Given the description of an element on the screen output the (x, y) to click on. 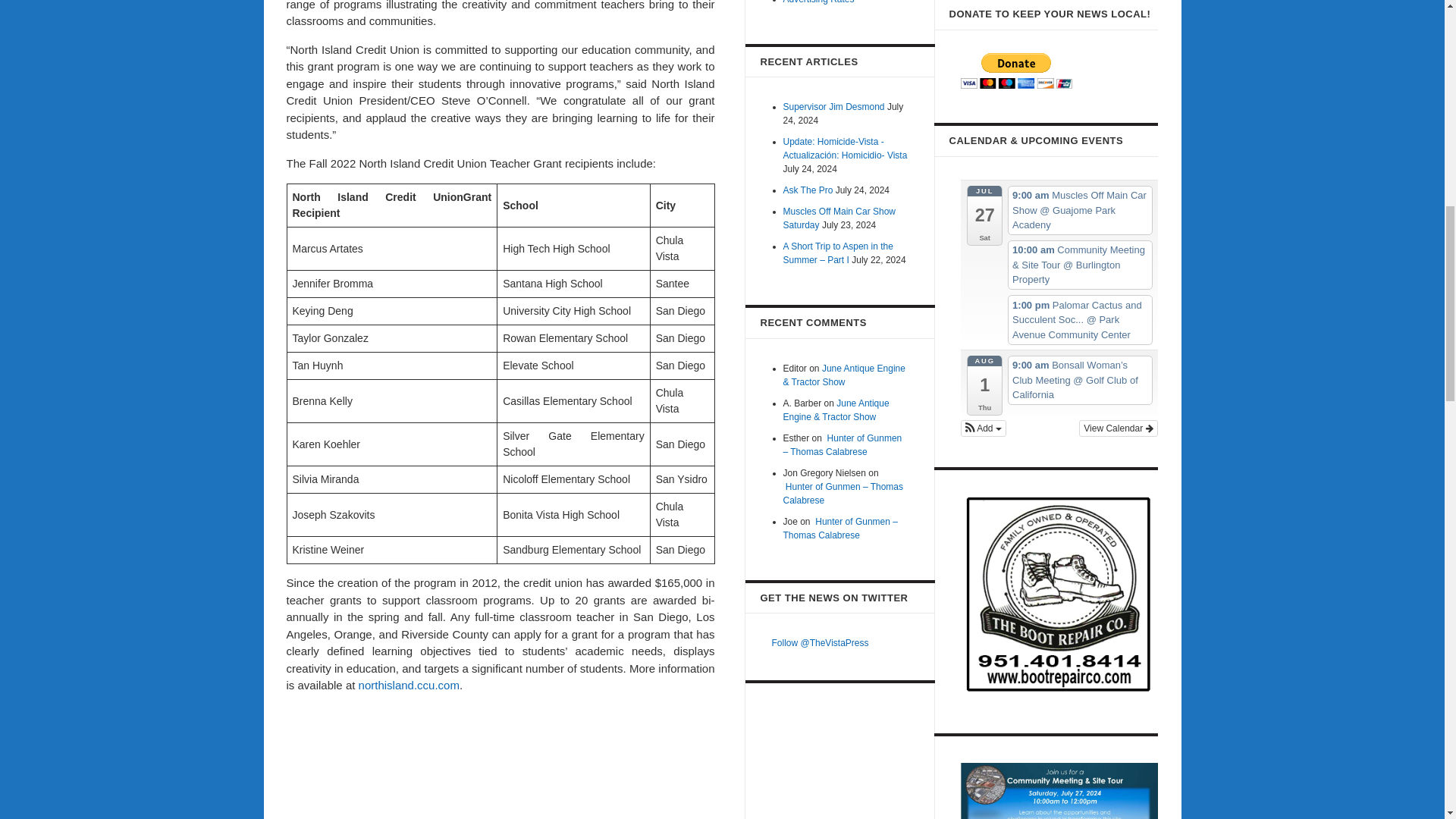
northisland.ccu.com (409, 684)
